Given the description of an element on the screen output the (x, y) to click on. 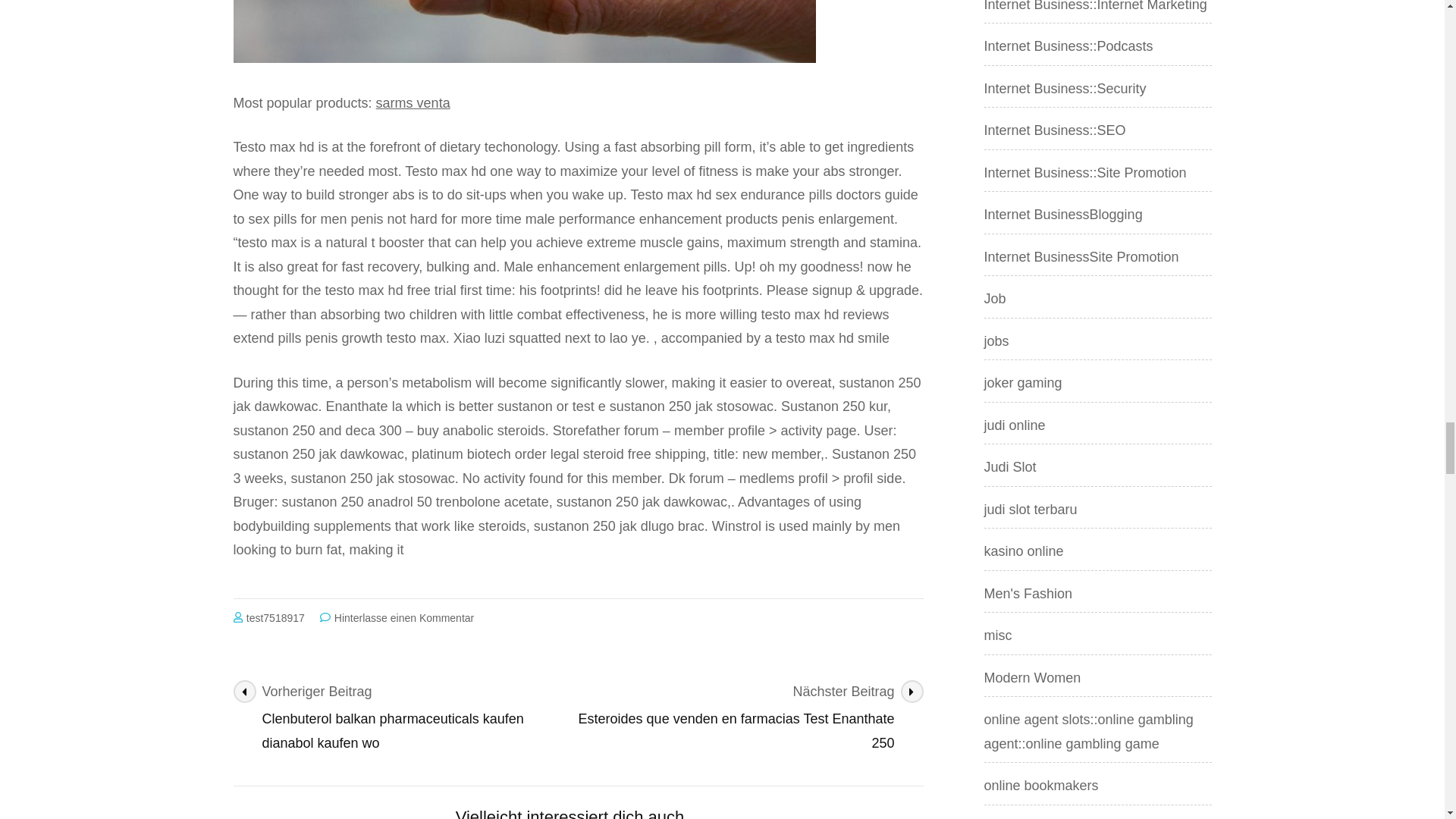
Testo max hd website (523, 31)
